Given the description of an element on the screen output the (x, y) to click on. 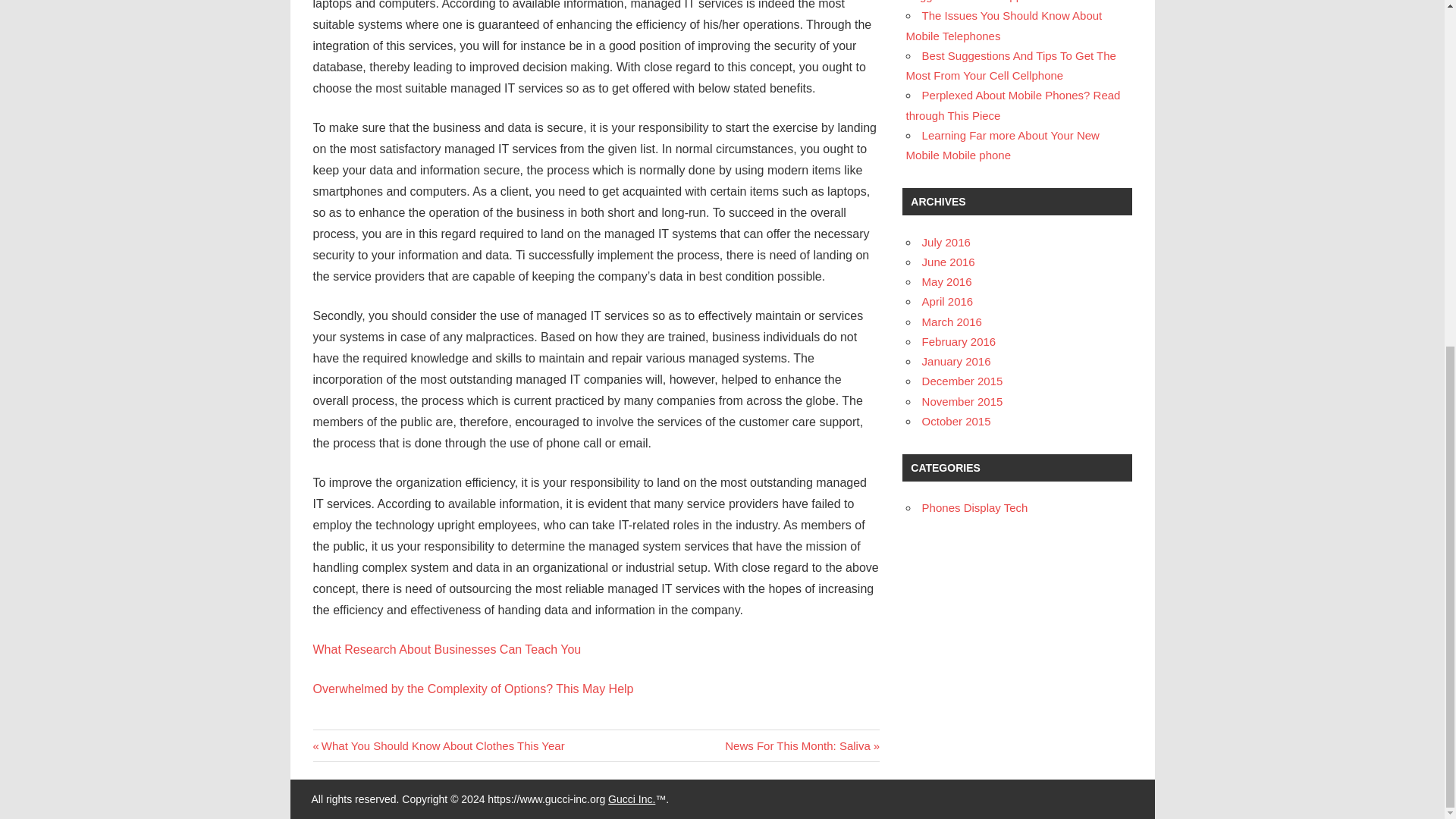
October 2015 (956, 420)
May 2016 (946, 281)
June 2016 (948, 261)
Perplexed About Mobile Phones? Read through This Piece (1013, 104)
Gucci Inc. (631, 799)
January 2016 (956, 360)
Learning Far more About Your New Mobile Mobile phone (802, 744)
November 2015 (1002, 144)
Overwhelmed by the Complexity of Options? This May Help (962, 400)
